Given the description of an element on the screen output the (x, y) to click on. 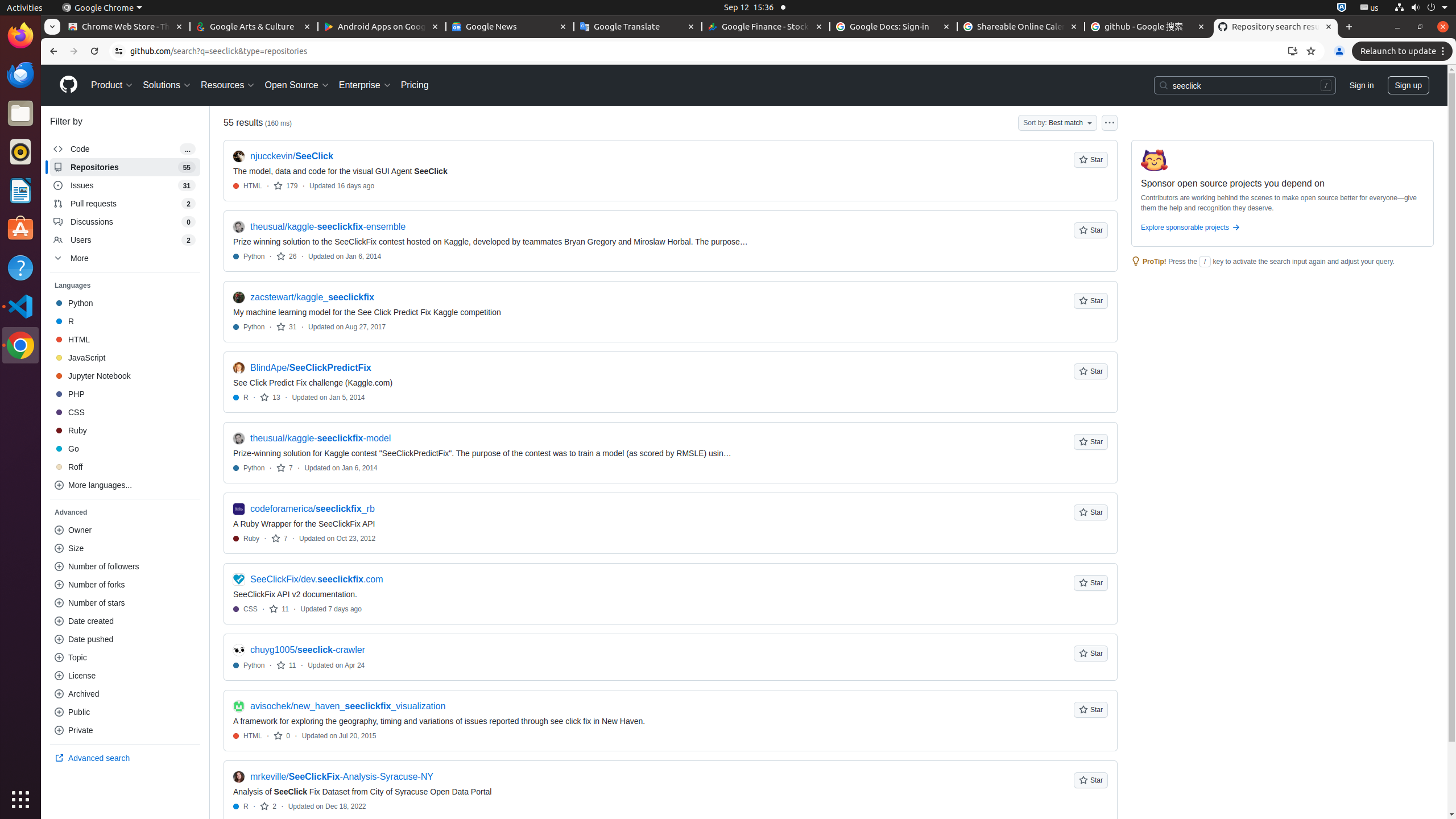
Visual Studio Code Element type: push-button (20, 306)
Shareable Online Calendar and Scheduling - Google Calendar - Memory usage - 88.4 MB Element type: page-tab (1020, 26)
Enterprise Element type: push-button (364, 84)
Skip to content Element type: link (40, 64)
Star Element type: link (1090, 159)
